Given the description of an element on the screen output the (x, y) to click on. 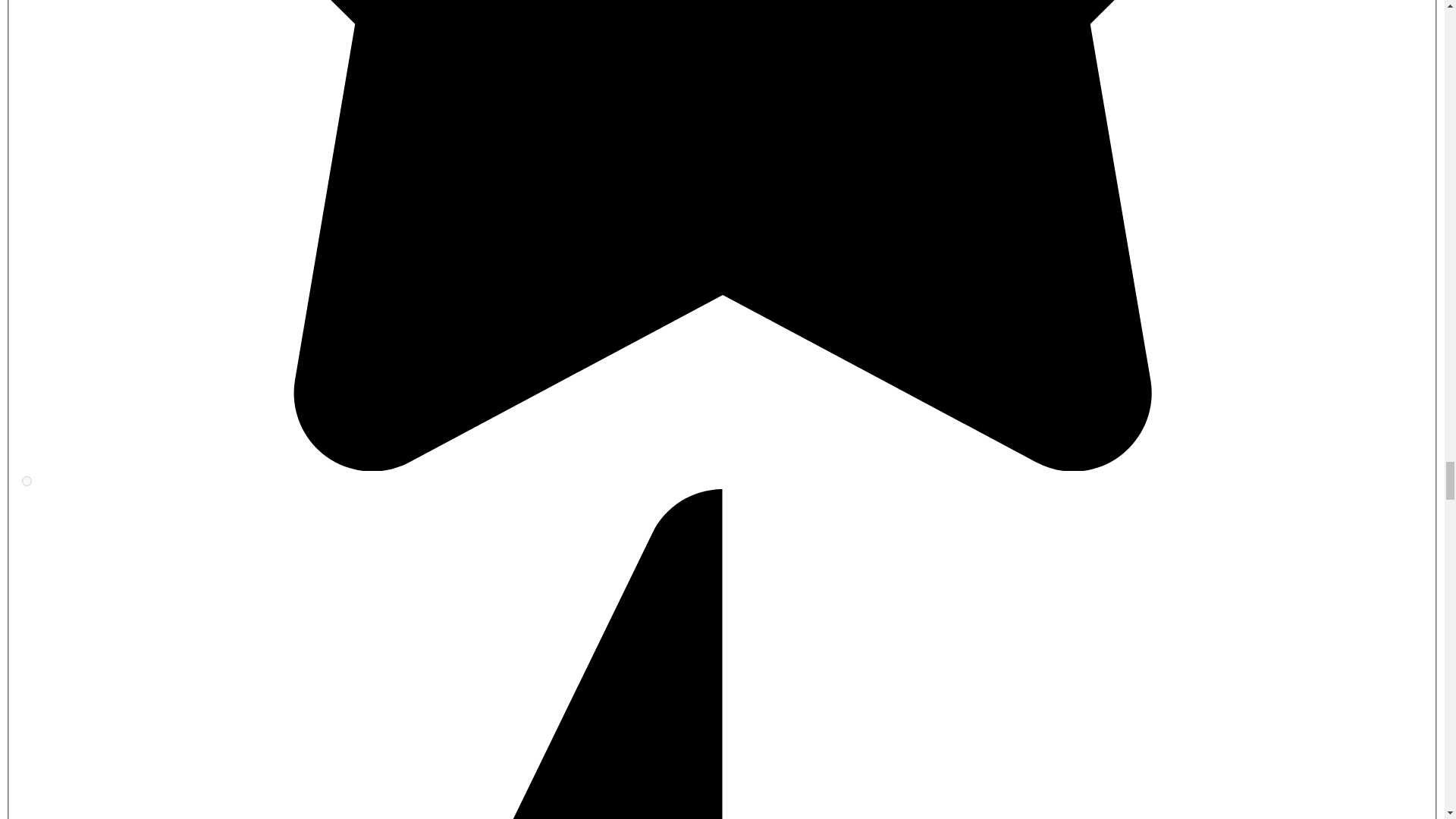
1.5 (26, 480)
